Given the description of an element on the screen output the (x, y) to click on. 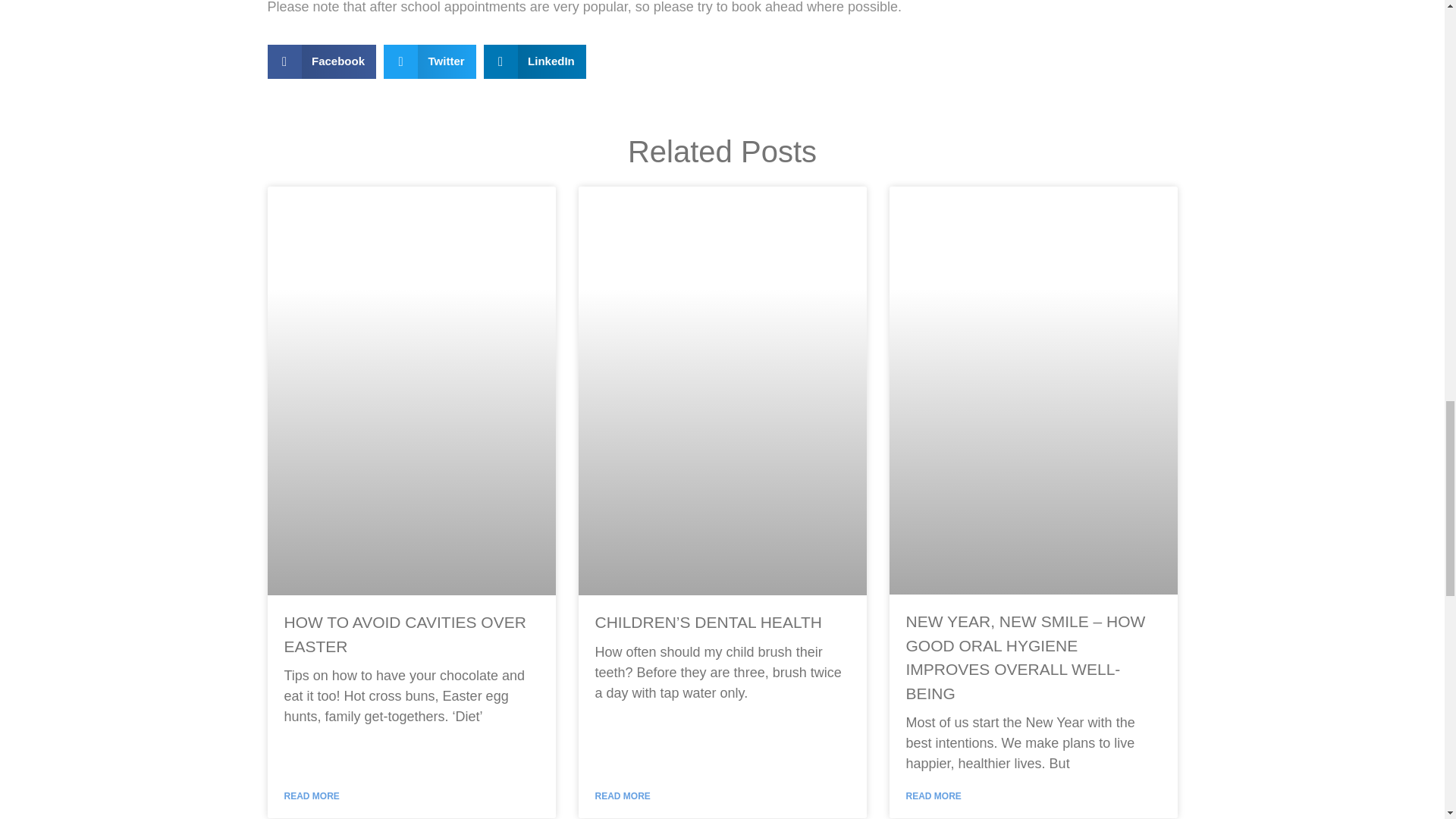
READ MORE (621, 796)
HOW TO AVOID CAVITIES OVER EASTER (404, 634)
READ MORE (311, 796)
READ MORE (932, 796)
